Given the description of an element on the screen output the (x, y) to click on. 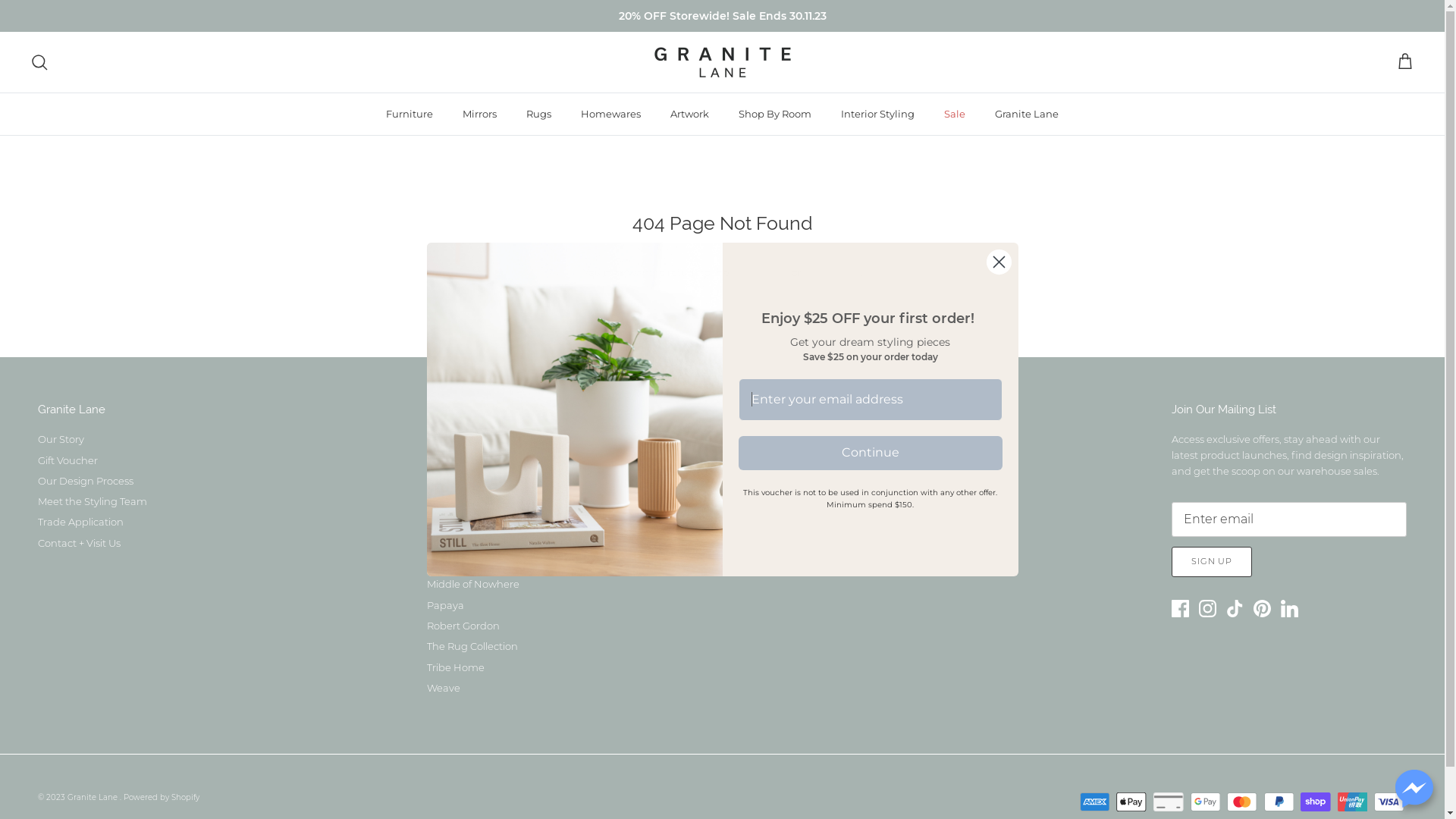
Artwork Element type: text (689, 114)
Trade Application Element type: text (80, 521)
Privacy Policy Element type: text (830, 521)
Mirrors Element type: text (479, 114)
Meet the Styling Team Element type: text (92, 501)
Close dialog 1 Element type: text (998, 261)
Granite Lane Element type: text (1026, 114)
Granite Lane Element type: text (458, 439)
Furniture Element type: text (409, 114)
Granite Lane Element type: text (93, 797)
Horgans Element type: text (447, 521)
Marmoset Found Element type: text (468, 563)
Continue Element type: text (870, 452)
home page Element type: text (759, 272)
Eadie Lifestyle Element type: text (461, 480)
FAQs Element type: text (811, 439)
Black Friday T&Cs Element type: text (841, 563)
Search Element type: text (39, 62)
Rugs Element type: text (538, 114)
Interior Styling Element type: text (877, 114)
Submit Element type: text (38, 14)
Refunds + Returns Element type: text (843, 480)
L&M Home Element type: text (454, 542)
Weave Element type: text (443, 687)
Robert Gordon Element type: text (462, 625)
Our Story Element type: text (60, 439)
Shipping Element type: text (820, 501)
Homewares Element type: text (610, 114)
Mirror FAQs Element type: text (826, 460)
try a search Element type: text (831, 272)
Terms & Conditions Element type: text (844, 542)
Contact + Visit Us Element type: text (78, 542)
Instagram Element type: text (1207, 608)
Facebook Element type: text (1180, 608)
SIGN UP Element type: text (1211, 561)
Our Design Process Element type: text (85, 480)
Cart Element type: text (1405, 62)
Powered by Shopify Element type: text (161, 797)
Sale Element type: text (954, 114)
Tribe Home Element type: text (455, 667)
al.ive body Element type: text (452, 460)
Papaya Element type: text (445, 605)
Gift Voucher Element type: text (67, 460)
Granite Lane  Element type: hover (721, 62)
GlobeWest Element type: text (453, 501)
Shop By Room Element type: text (774, 114)
Middle of Nowhere Element type: text (472, 583)
The Rug Collection Element type: text (471, 646)
Pinterest Element type: text (1261, 608)
